Given the description of an element on the screen output the (x, y) to click on. 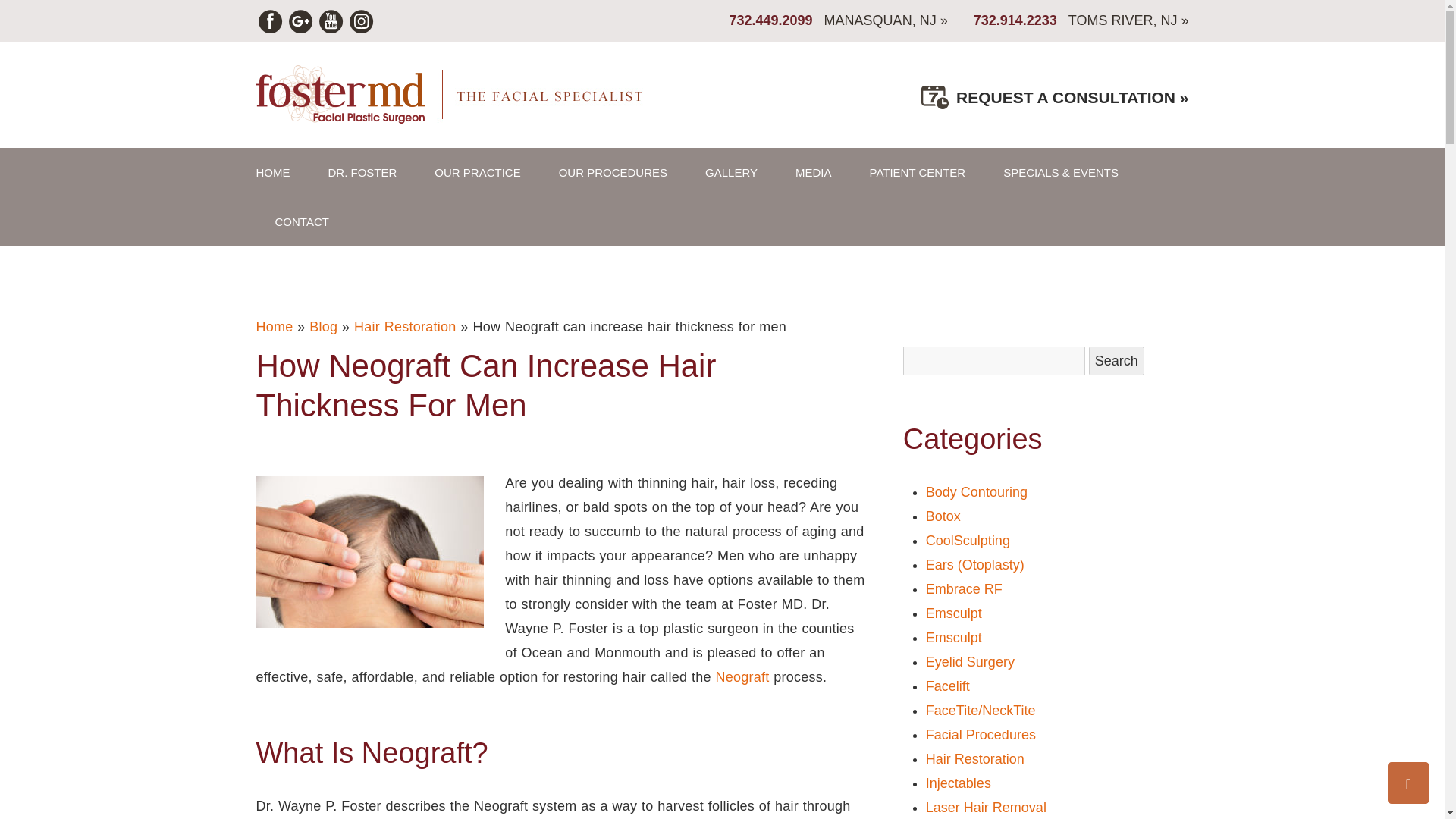
Search (1116, 360)
OUR PROCEDURES (612, 172)
732.449.2099 (770, 20)
OUR PRACTICE (476, 172)
DR. FOSTER (361, 172)
732.914.2233 (1015, 20)
